Given the description of an element on the screen output the (x, y) to click on. 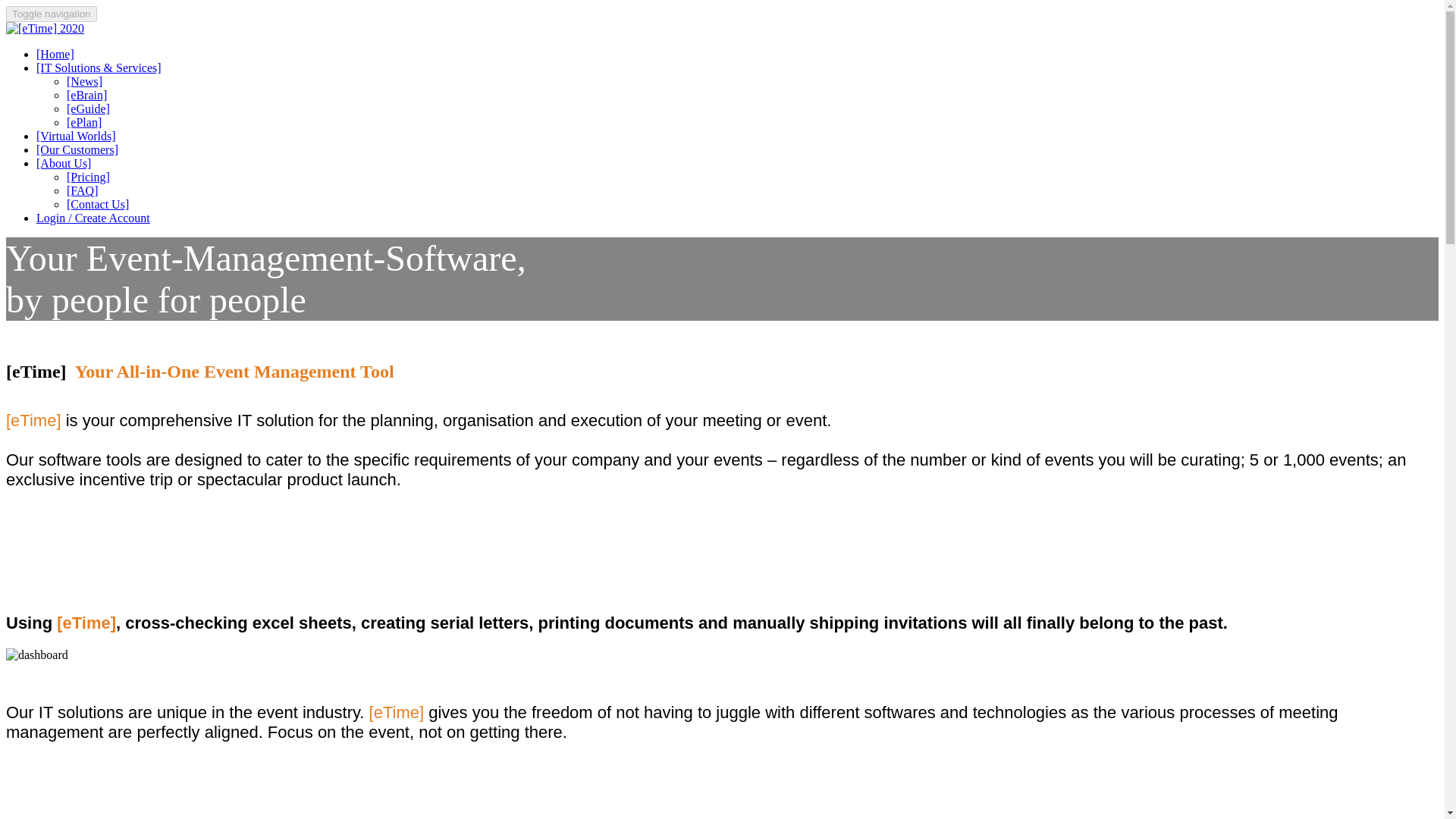
Toggle navigation (51, 13)
